Given the description of an element on the screen output the (x, y) to click on. 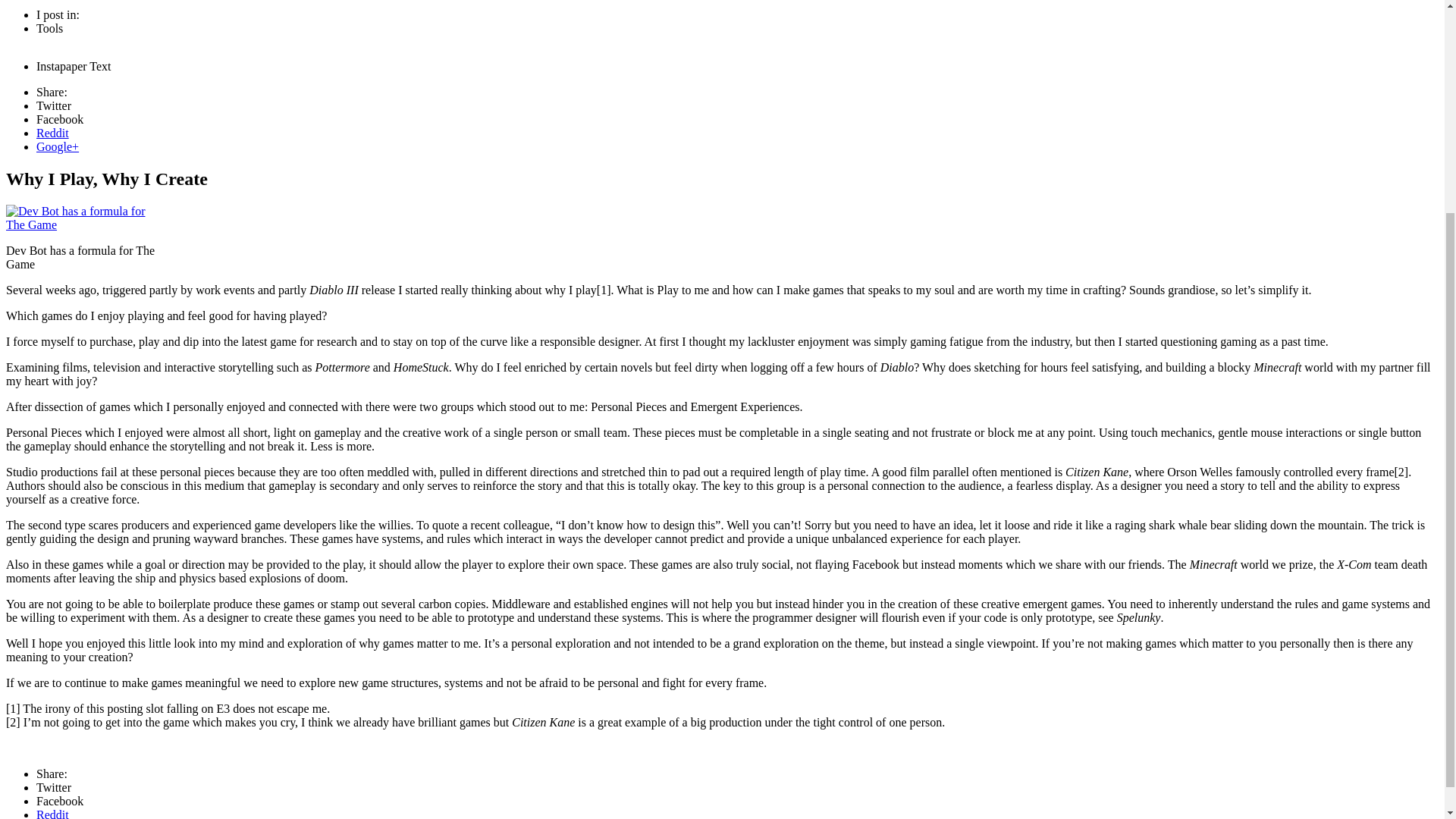
Reddit (52, 132)
Facebook (59, 800)
Twitter (53, 105)
Twitter (53, 787)
Facebook (59, 119)
